Given the description of an element on the screen output the (x, y) to click on. 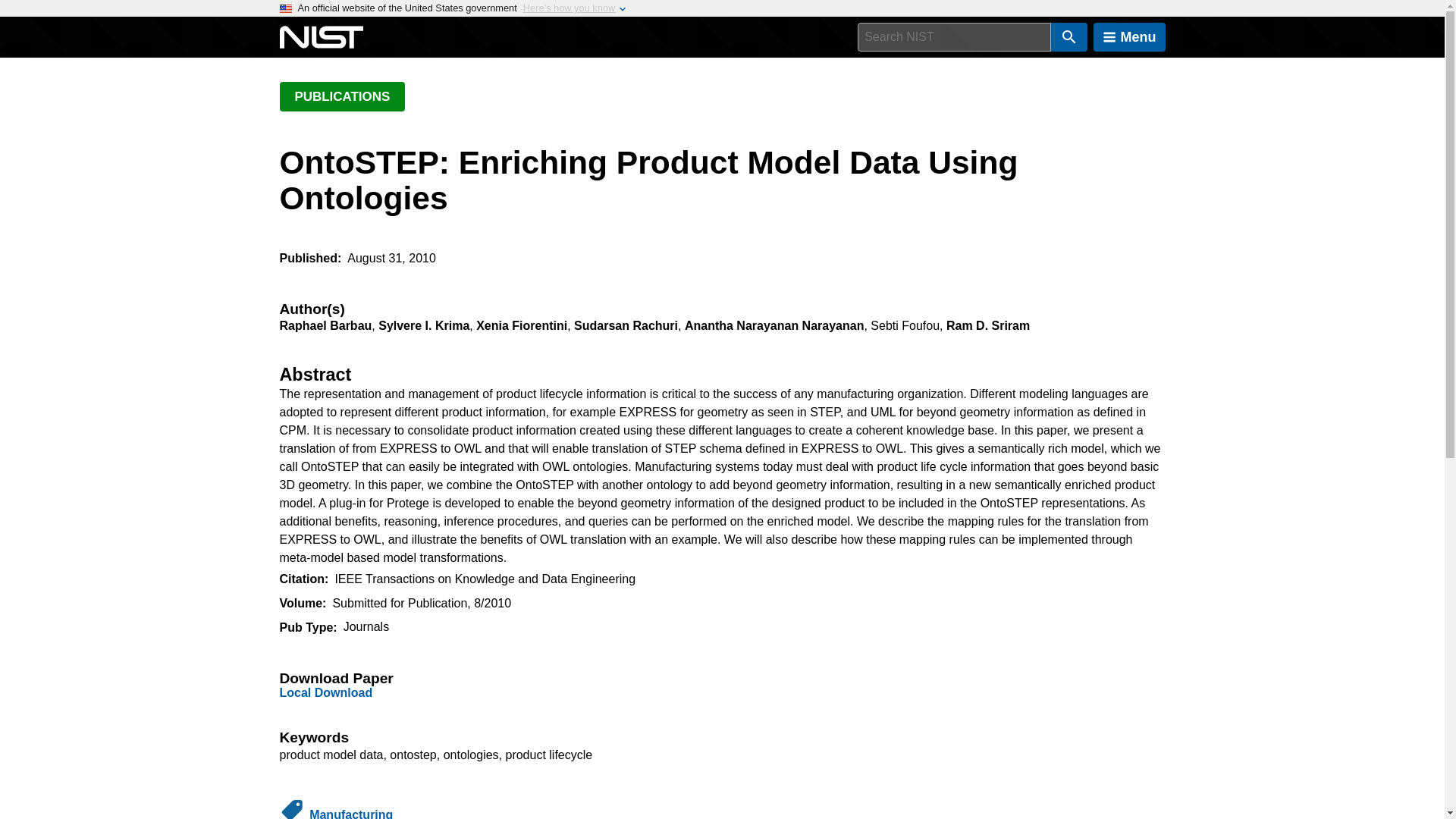
Menu (1129, 36)
PUBLICATIONS (341, 96)
Local Download (325, 692)
Manufacturing (350, 813)
National Institute of Standards and Technology (320, 36)
